Given the description of an element on the screen output the (x, y) to click on. 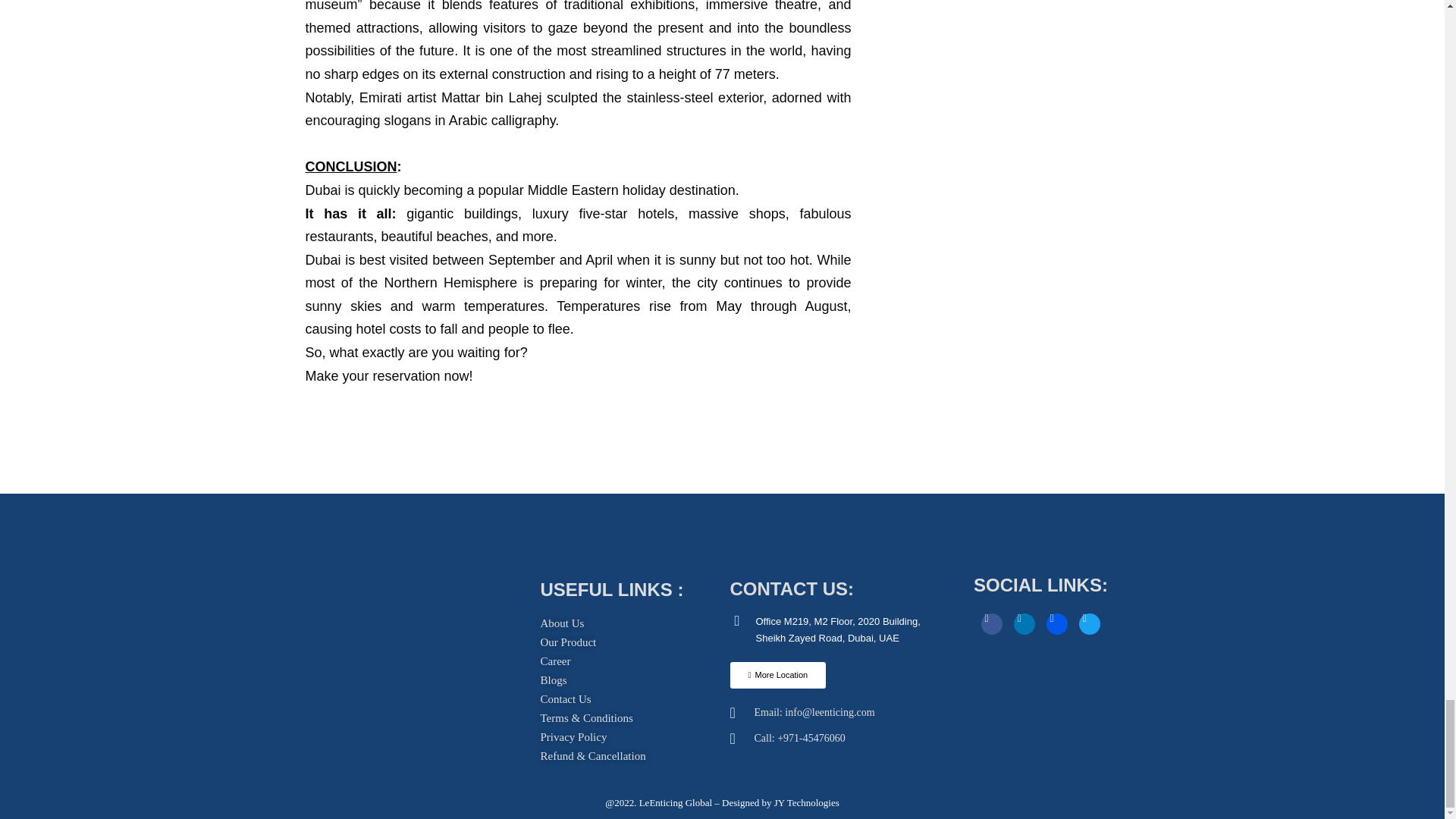
Contact Us (565, 699)
Our Product (567, 642)
Blogs (553, 680)
Privacy Policy (573, 737)
About Us (561, 623)
Career (555, 660)
More Location (777, 674)
